Given the description of an element on the screen output the (x, y) to click on. 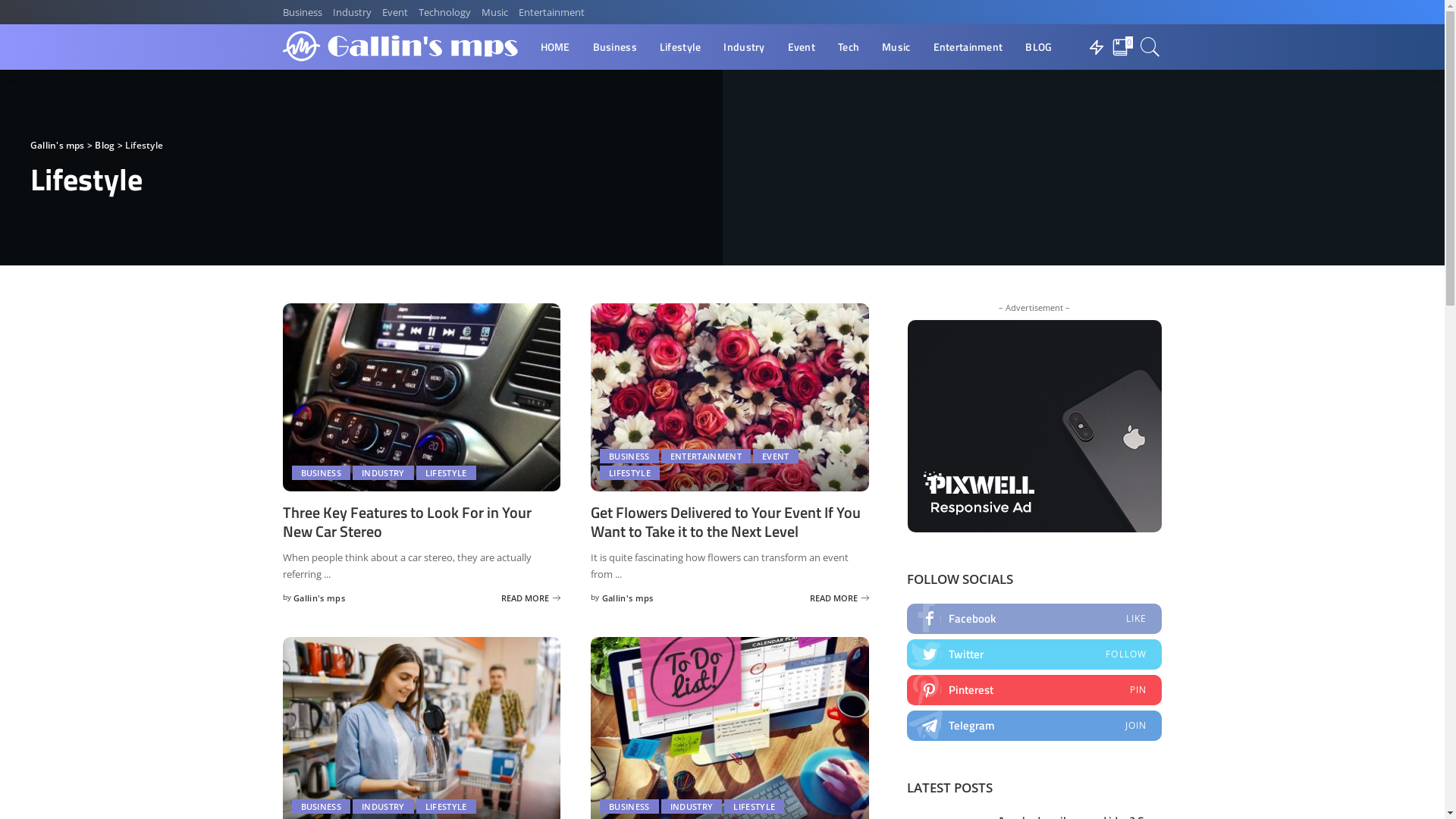
Entertainment Element type: text (550, 12)
Facebook Element type: hover (1034, 618)
Music Element type: text (494, 12)
Gallin's mps Element type: hover (399, 46)
Three Key Features to Look For in Your New Car Stereo Element type: text (406, 521)
Industry Element type: text (743, 46)
INDUSTRY Element type: text (383, 472)
LIFESTYLE Element type: text (446, 472)
Gallin's mps Element type: text (319, 597)
READ MORE Element type: text (530, 597)
LIFESTYLE Element type: text (754, 806)
Pinterest Element type: hover (1034, 689)
Technology Element type: text (443, 12)
Entertainment Element type: text (968, 46)
EVENT Element type: text (775, 455)
Gallin's mps Element type: text (57, 144)
READ MORE Element type: text (839, 597)
Music Element type: text (895, 46)
HOME Element type: text (555, 46)
Search Element type: text (1140, 90)
Event Element type: text (394, 12)
Business Element type: text (614, 46)
BUSINESS Element type: text (628, 806)
INDUSTRY Element type: text (691, 806)
Tech Element type: text (848, 46)
ENTERTAINMENT Element type: text (705, 455)
BUSINESS Element type: text (320, 806)
Twitter Element type: hover (1034, 654)
BUSINESS Element type: text (628, 455)
Three Key Features to Look For in Your New Car Stereo Element type: hover (421, 397)
LIFESTYLE Element type: text (629, 472)
0 Element type: text (1121, 46)
Business Element type: text (304, 12)
Gallin's mps Element type: text (627, 597)
INDUSTRY Element type: text (383, 806)
Industry Element type: text (351, 12)
BUSINESS Element type: text (320, 472)
Search Element type: hover (1149, 46)
Lifestyle Element type: text (680, 46)
LIFESTYLE Element type: text (446, 806)
Telegram Element type: hover (1034, 725)
Event Element type: text (801, 46)
Blog Element type: text (104, 144)
BLOG Element type: text (1038, 46)
